Given the description of an element on the screen output the (x, y) to click on. 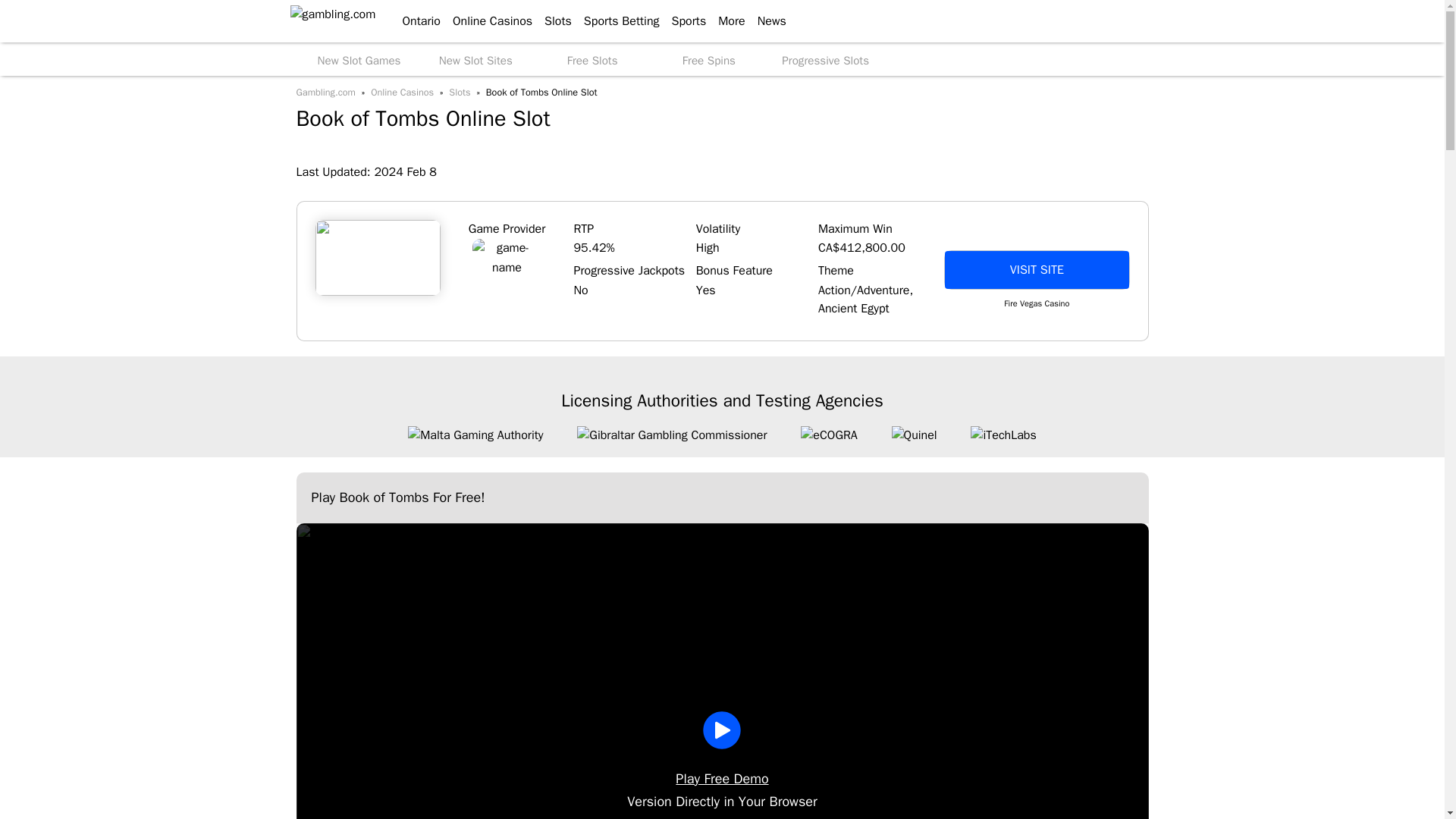
Online Casinos (486, 21)
Ontario (414, 21)
Slots (552, 21)
